Given the description of an element on the screen output the (x, y) to click on. 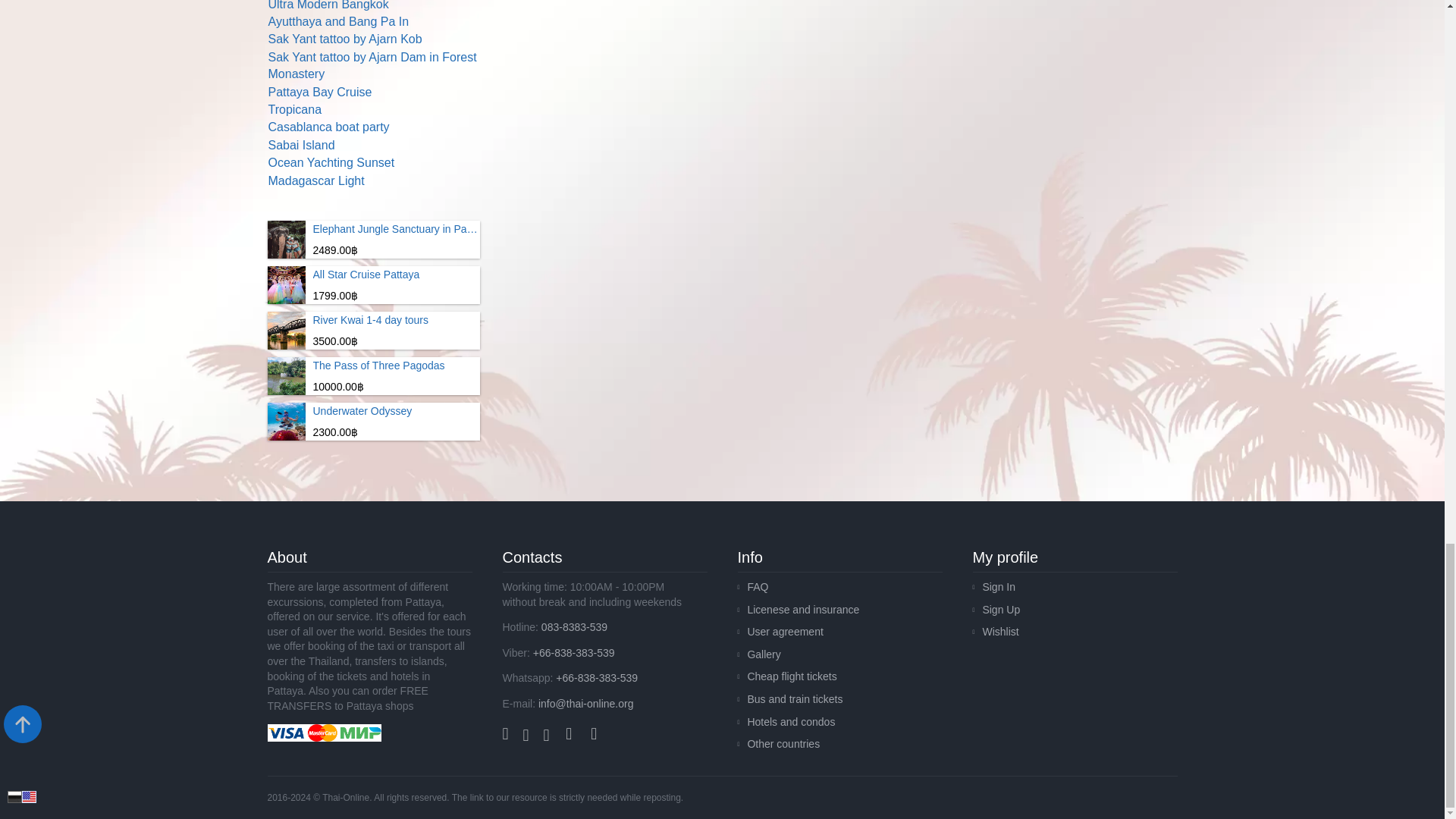
Buy and pay for excursions online in Pattaya (323, 732)
